Given the description of an element on the screen output the (x, y) to click on. 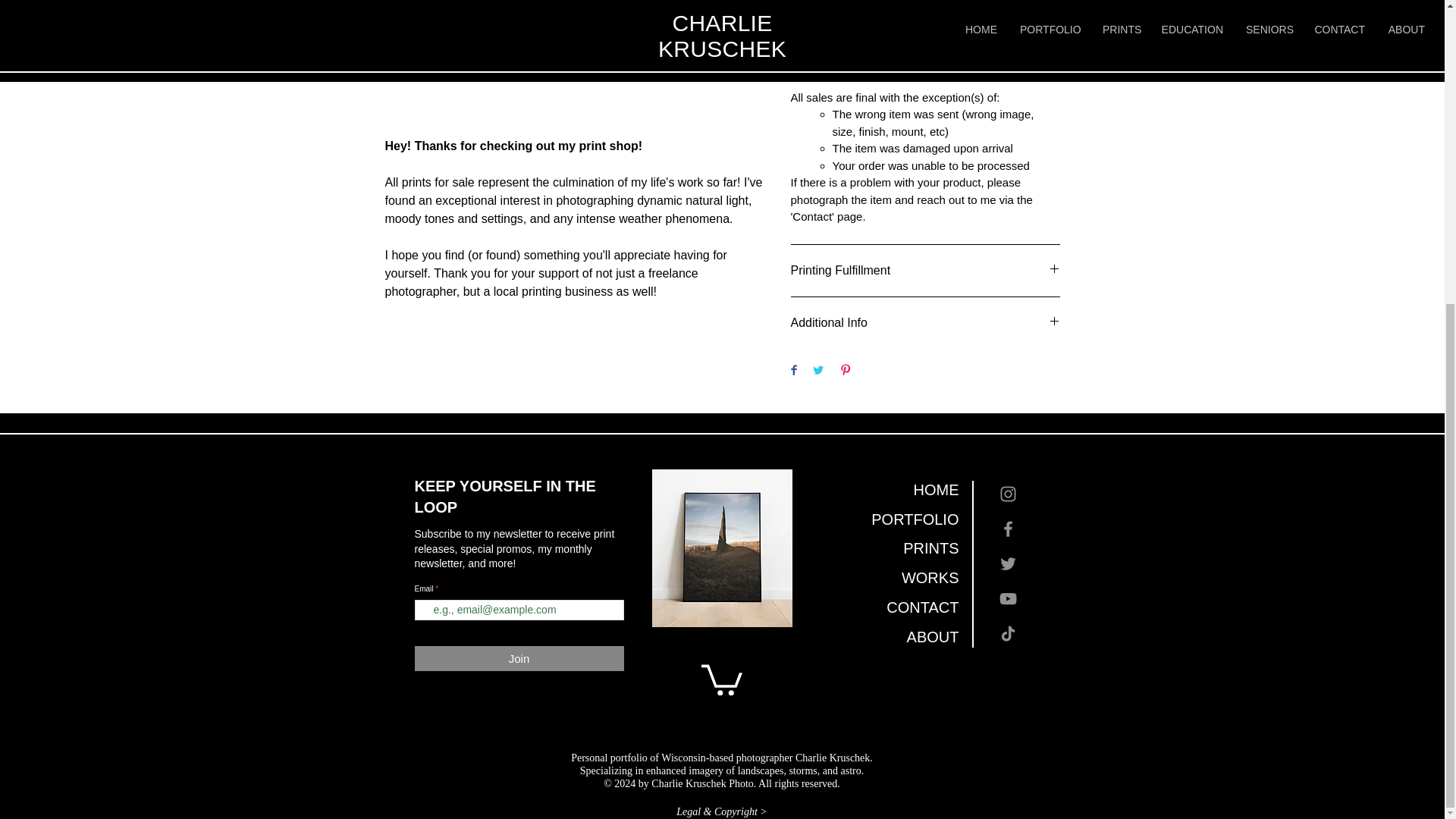
CONTACT (886, 607)
Join (518, 658)
WORKS (886, 577)
Add to Cart (906, 12)
Refund Policy (924, 68)
PRINTS (886, 548)
HOME (886, 490)
PORTFOLIO (886, 519)
Printing Fulfillment (924, 270)
Additional Info (924, 322)
ABOUT (886, 636)
